Given the description of an element on the screen output the (x, y) to click on. 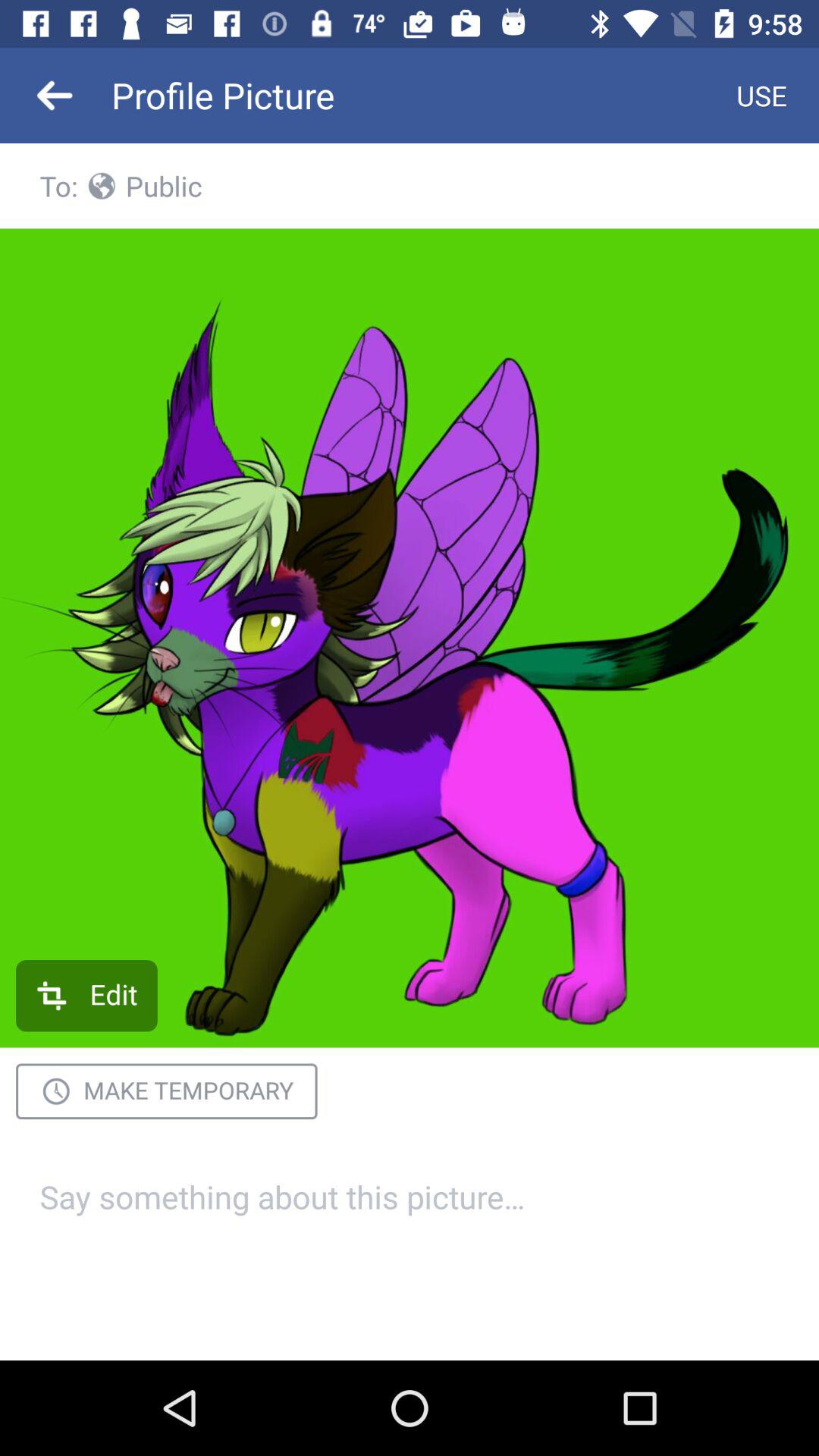
turn on the icon next to the profile picture item (761, 95)
